Given the description of an element on the screen output the (x, y) to click on. 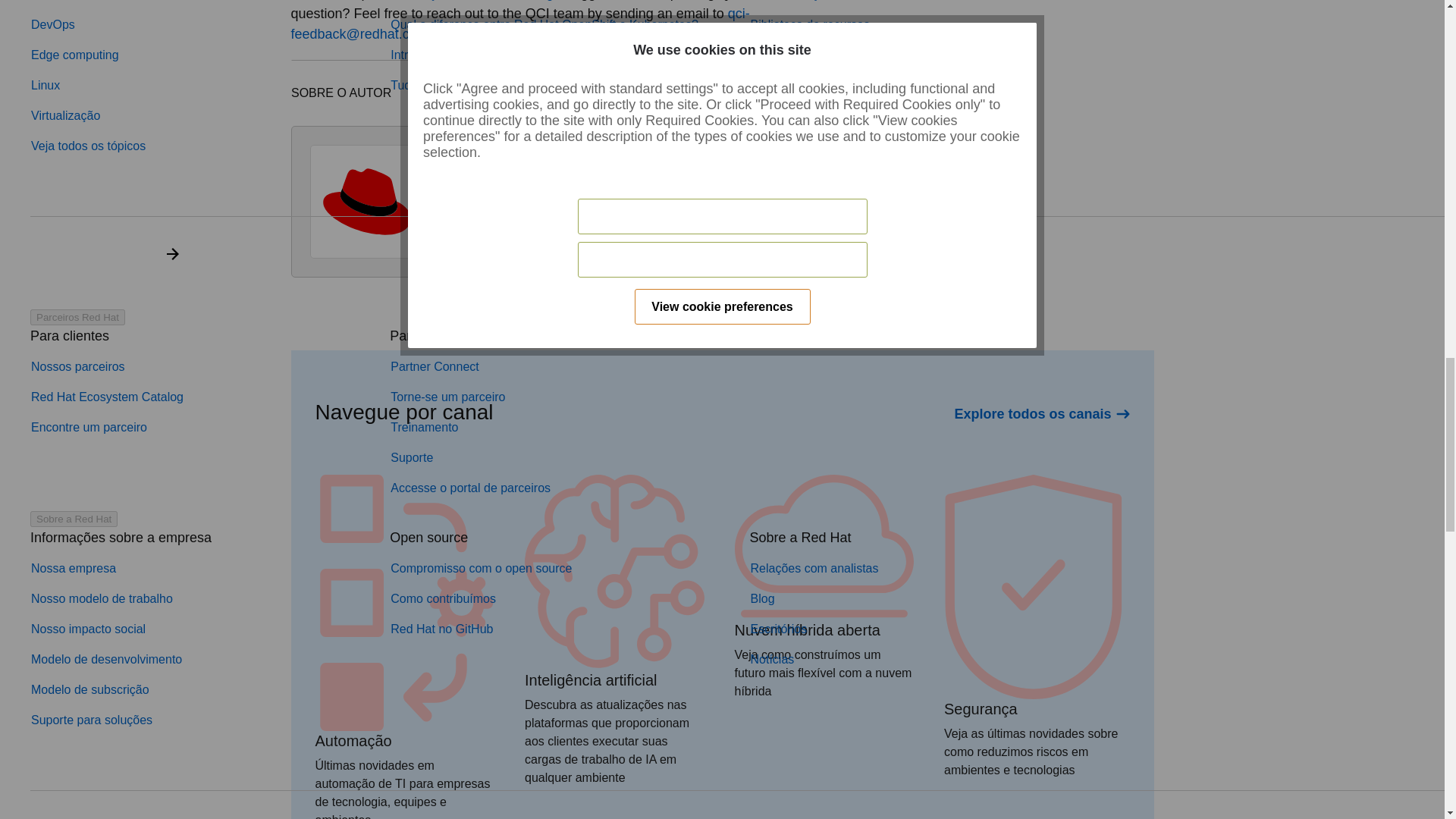
Explore all channels (1041, 414)
